Given the description of an element on the screen output the (x, y) to click on. 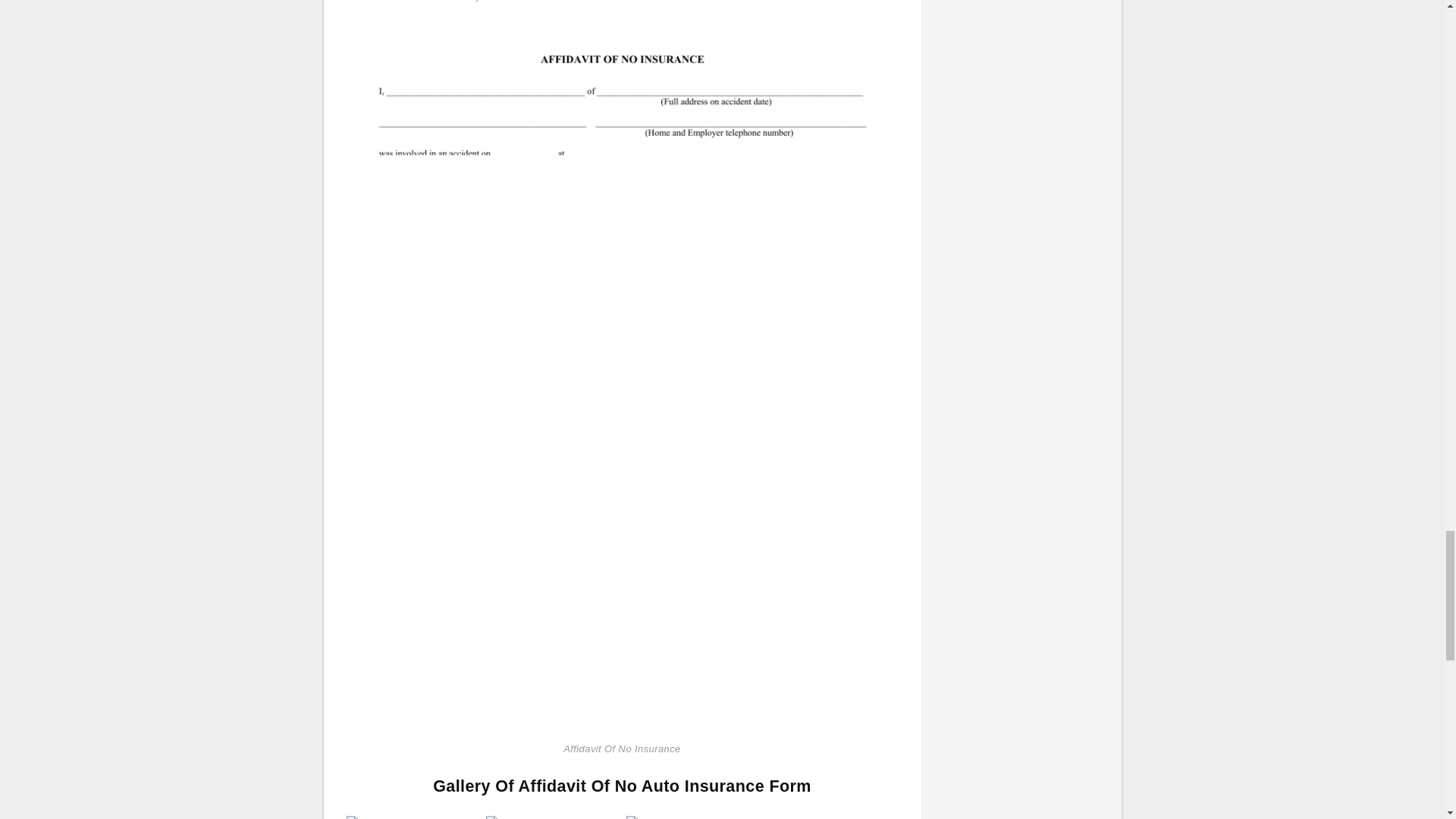
Affidavit Of No Insurance (412, 817)
Affidavit Of No Insurance (622, 377)
